Given the description of an element on the screen output the (x, y) to click on. 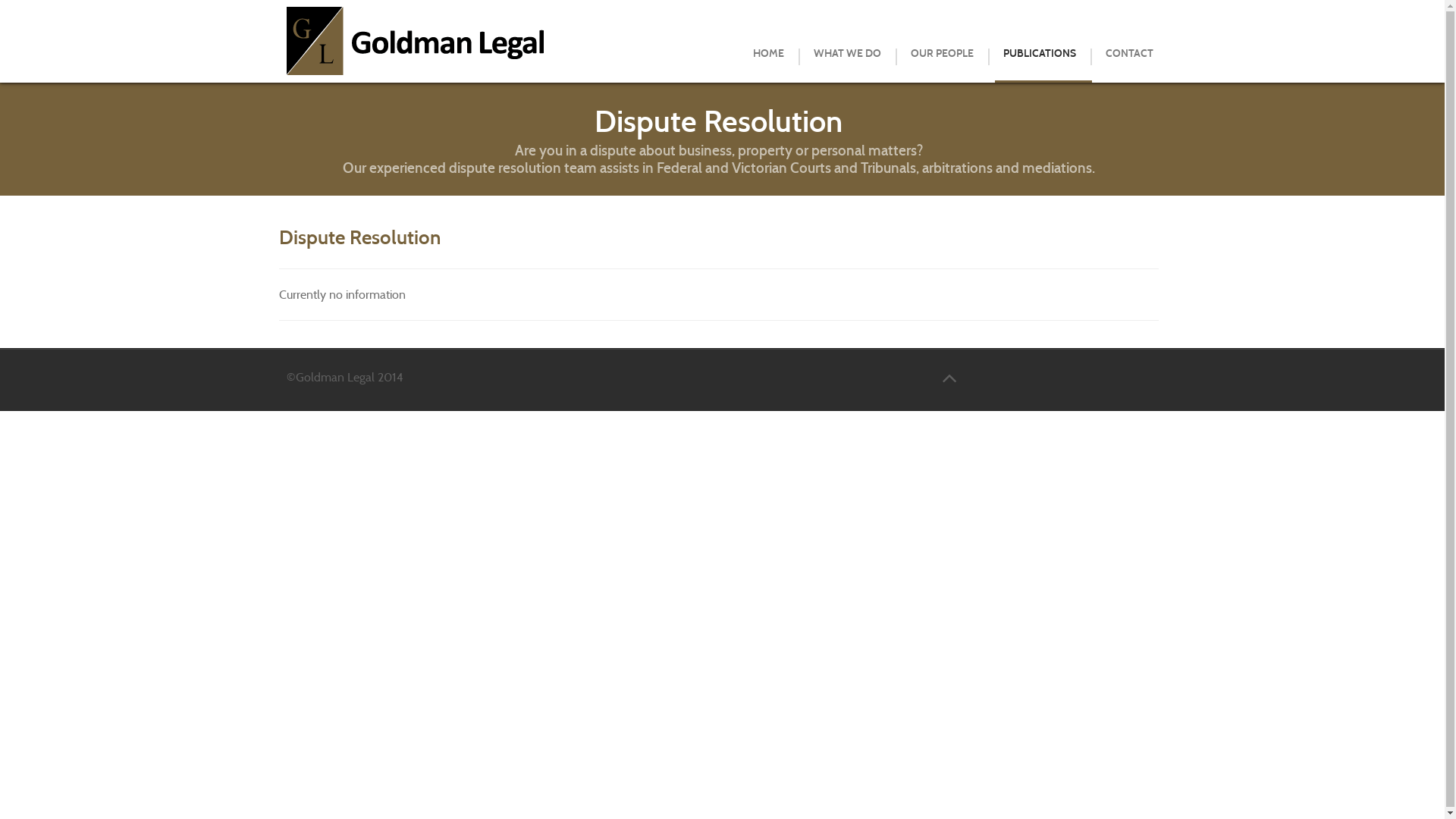
WHAT WE DO Element type: text (846, 53)
PUBLICATIONS Element type: text (1038, 53)
OUR PEOPLE Element type: text (941, 53)
CONTACT Element type: text (1129, 53)
HOME Element type: text (767, 53)
